Given the description of an element on the screen output the (x, y) to click on. 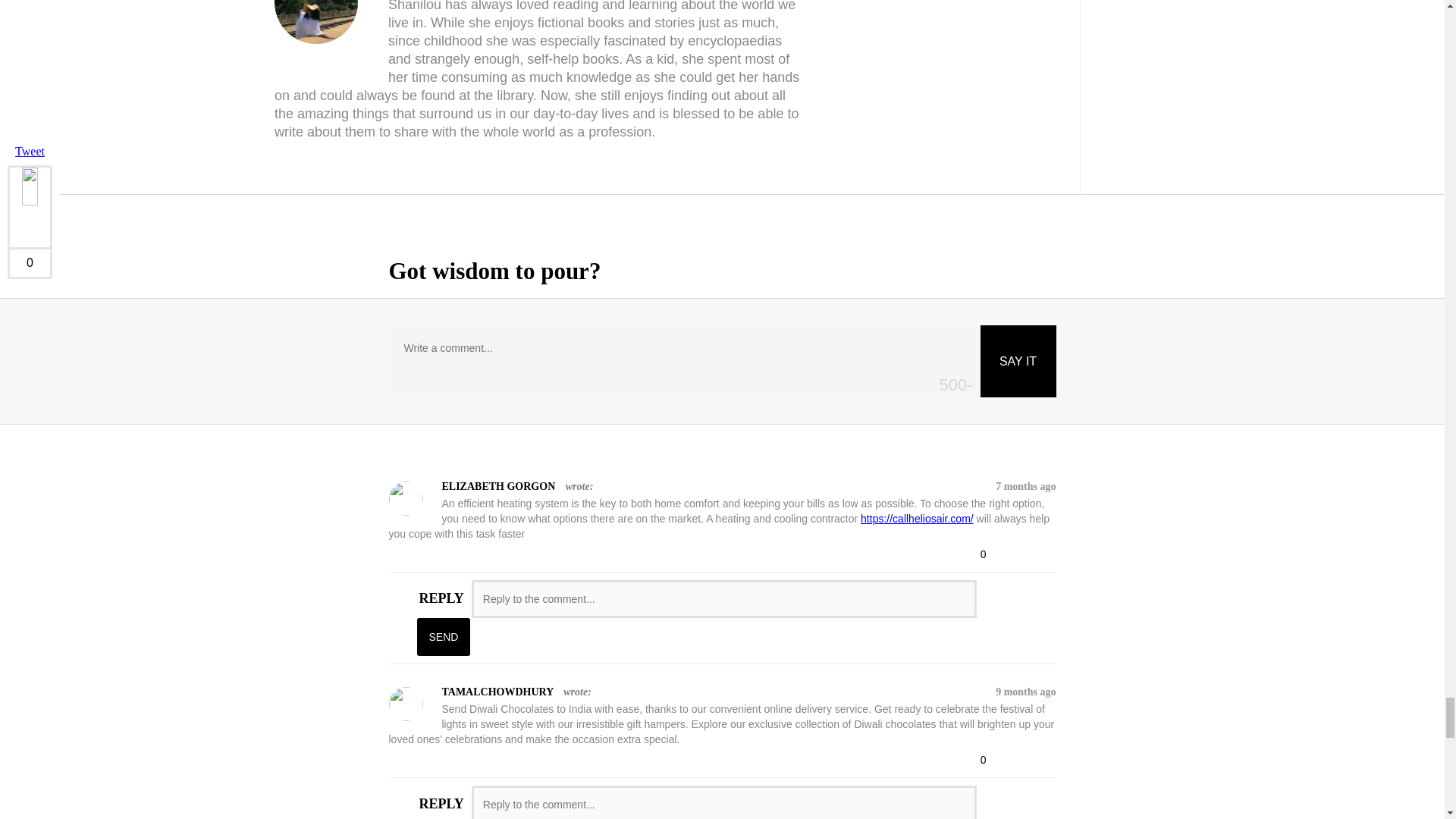
SAY IT (1017, 361)
SEND (443, 637)
